Given the description of an element on the screen output the (x, y) to click on. 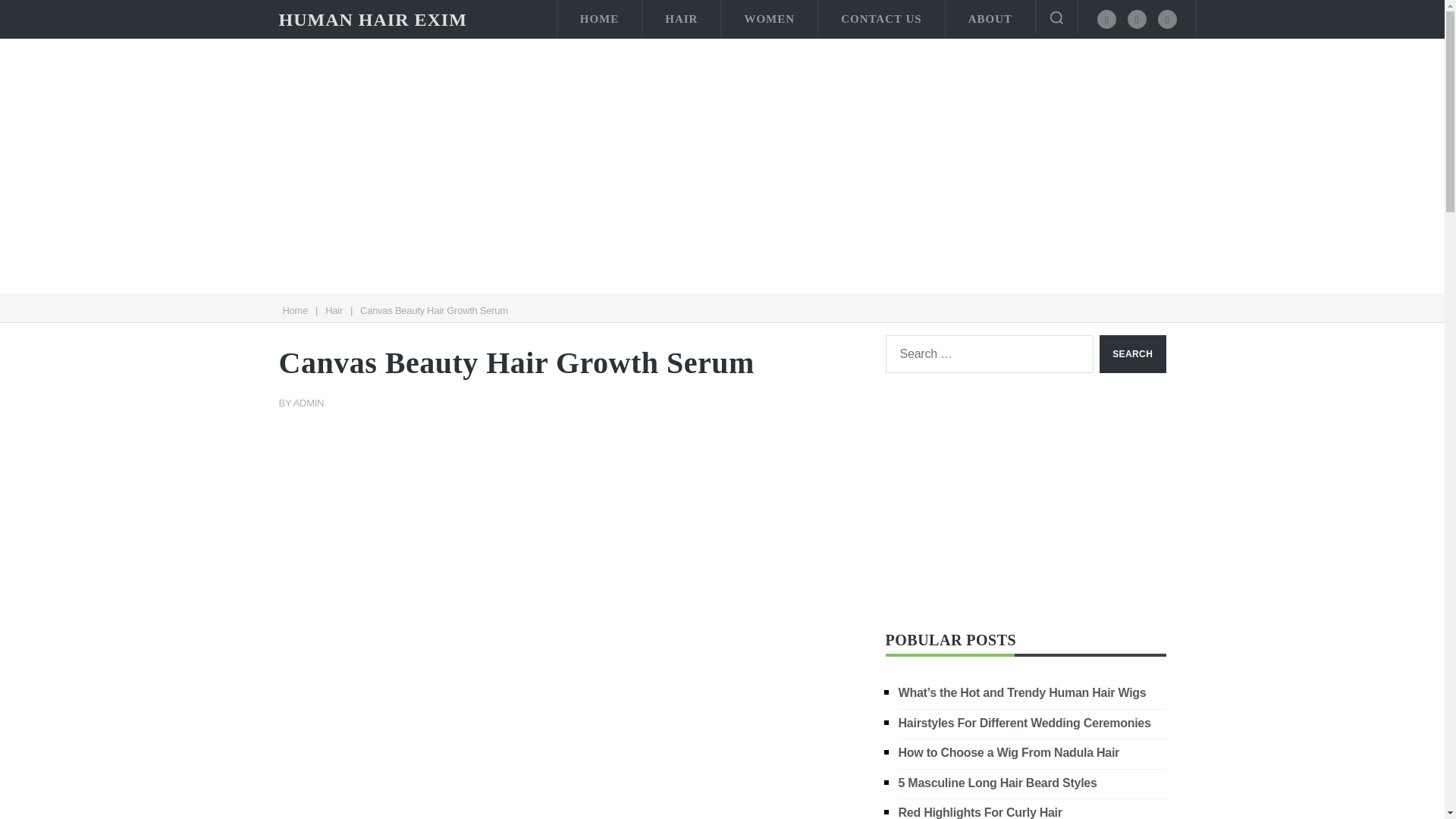
Advertisement (571, 755)
Search (1132, 353)
Twitter (1136, 18)
Google Plus G (1166, 18)
HOME (599, 18)
WOMEN (768, 18)
Advertisement (571, 541)
CONTACT US (881, 18)
Hairstyles For Different Wedding Ceremonies (1024, 722)
